Given the description of an element on the screen output the (x, y) to click on. 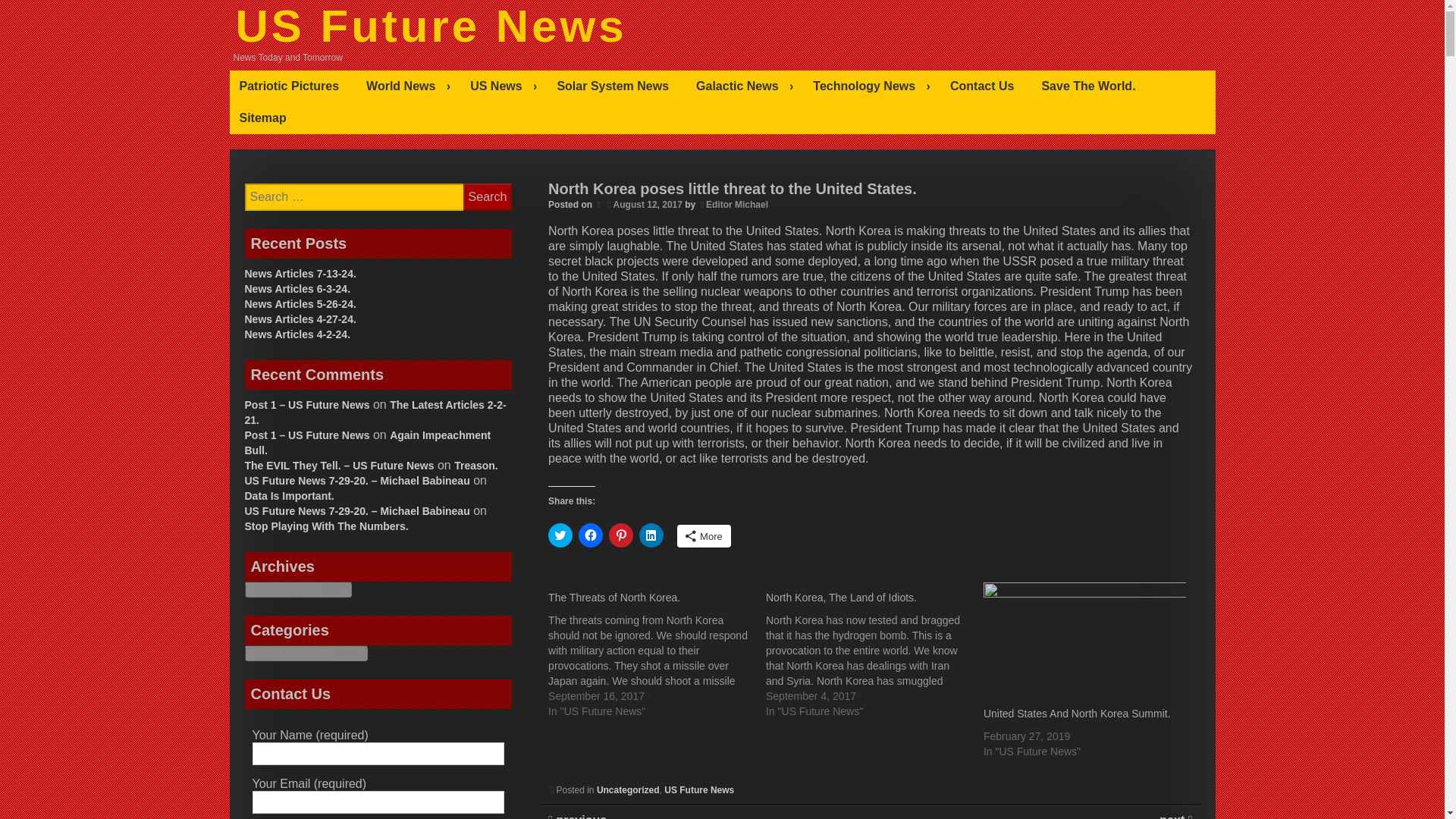
North Korea, The Land of Idiots. (874, 650)
United States And North Korea Summit. (1085, 640)
Patriotic Pictures (292, 86)
North Korea, The Land of Idiots. (841, 597)
The Threats of North Korea. (613, 597)
The Threats of North Korea. (656, 650)
US Future News (430, 25)
Click to share on LinkedIn (651, 535)
World News (408, 86)
United States And North Korea Summit. (1077, 713)
